Given the description of an element on the screen output the (x, y) to click on. 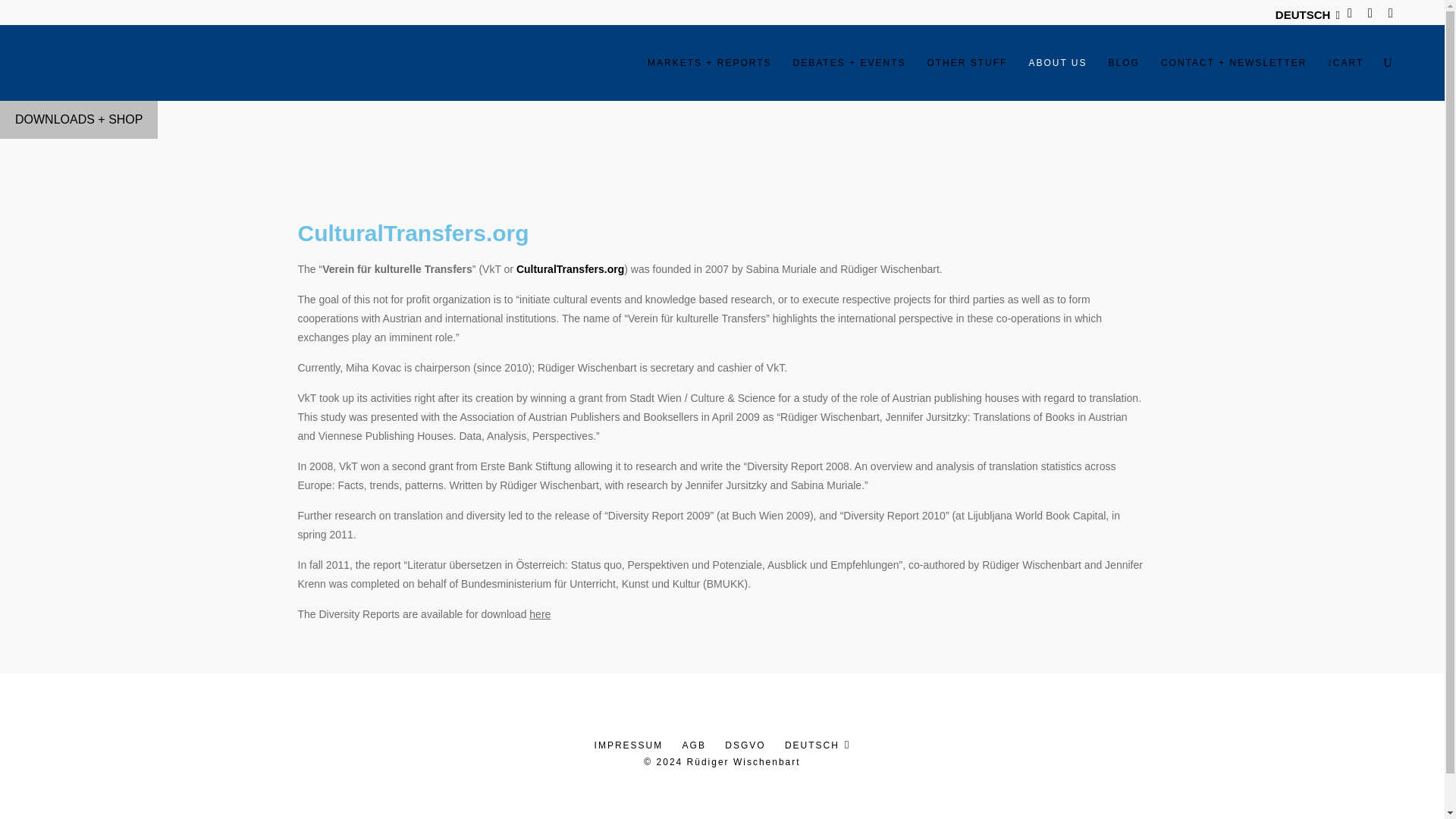
ABOUT US (1057, 62)
DEUTSCH (1302, 14)
OTHER STUFF (966, 62)
